Given the description of an element on the screen output the (x, y) to click on. 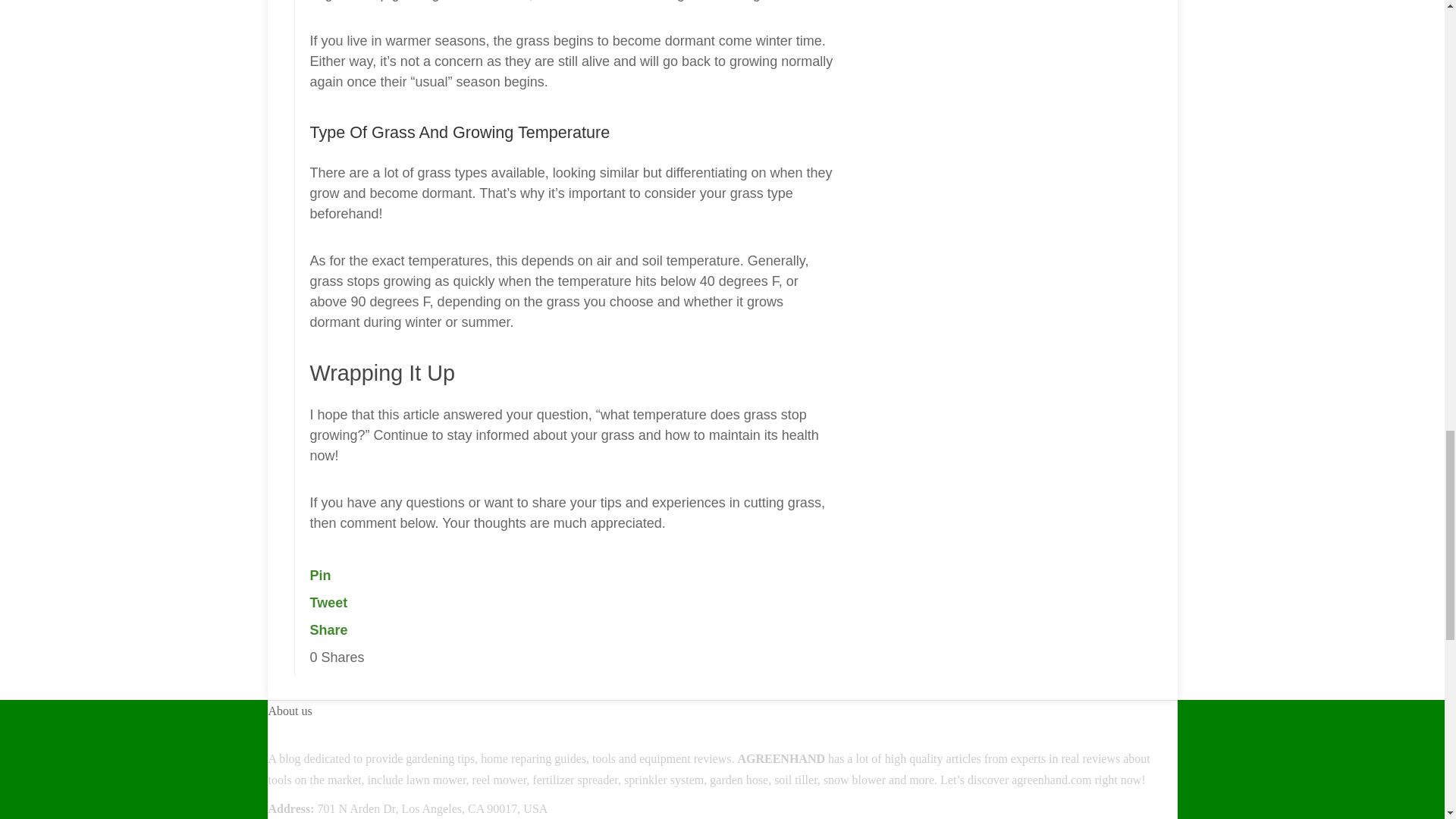
Share (327, 630)
Pin (319, 575)
Tweet (327, 602)
